Given the description of an element on the screen output the (x, y) to click on. 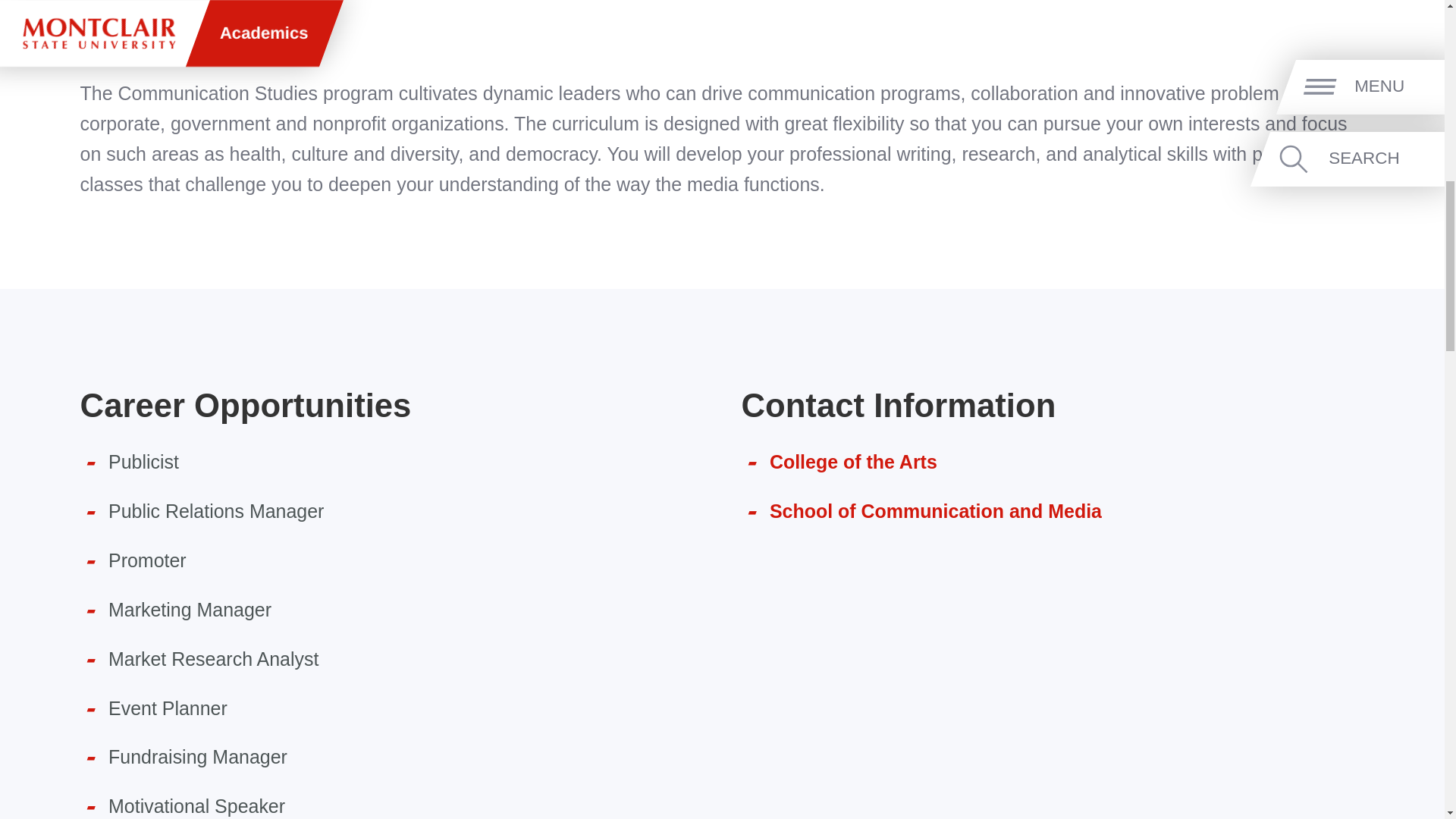
College of the Arts (853, 461)
School of Communication and Media (936, 510)
